Given the description of an element on the screen output the (x, y) to click on. 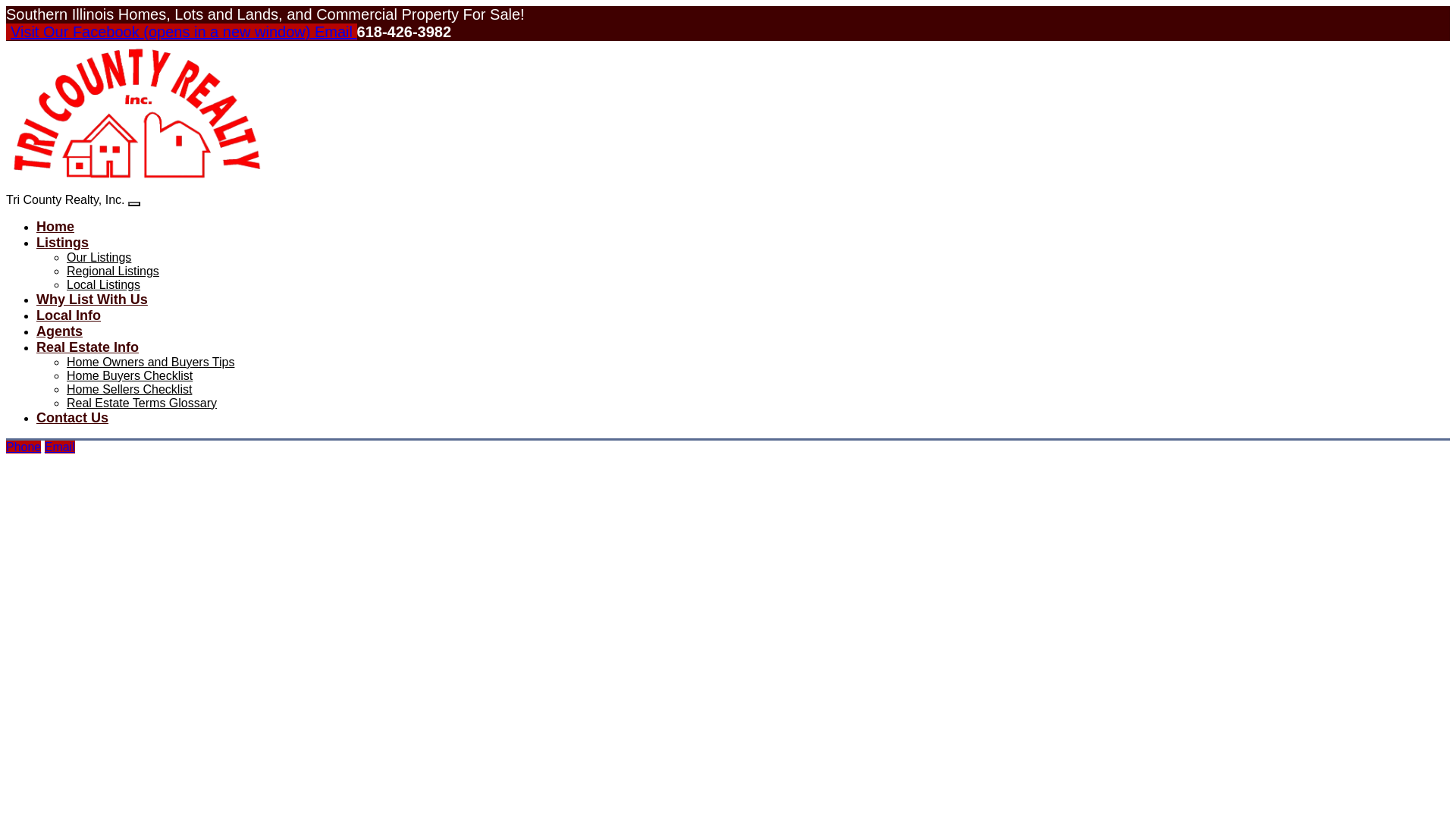
Email (335, 31)
Skip to main content (789, 2)
Home (55, 226)
Local Info (68, 314)
Home Owners and Buyers Tips (150, 361)
Listings (62, 242)
Home Sellers Checklist (129, 389)
Why List With Us (92, 299)
Regional Listings (112, 270)
Contact Us (71, 417)
